Given the description of an element on the screen output the (x, y) to click on. 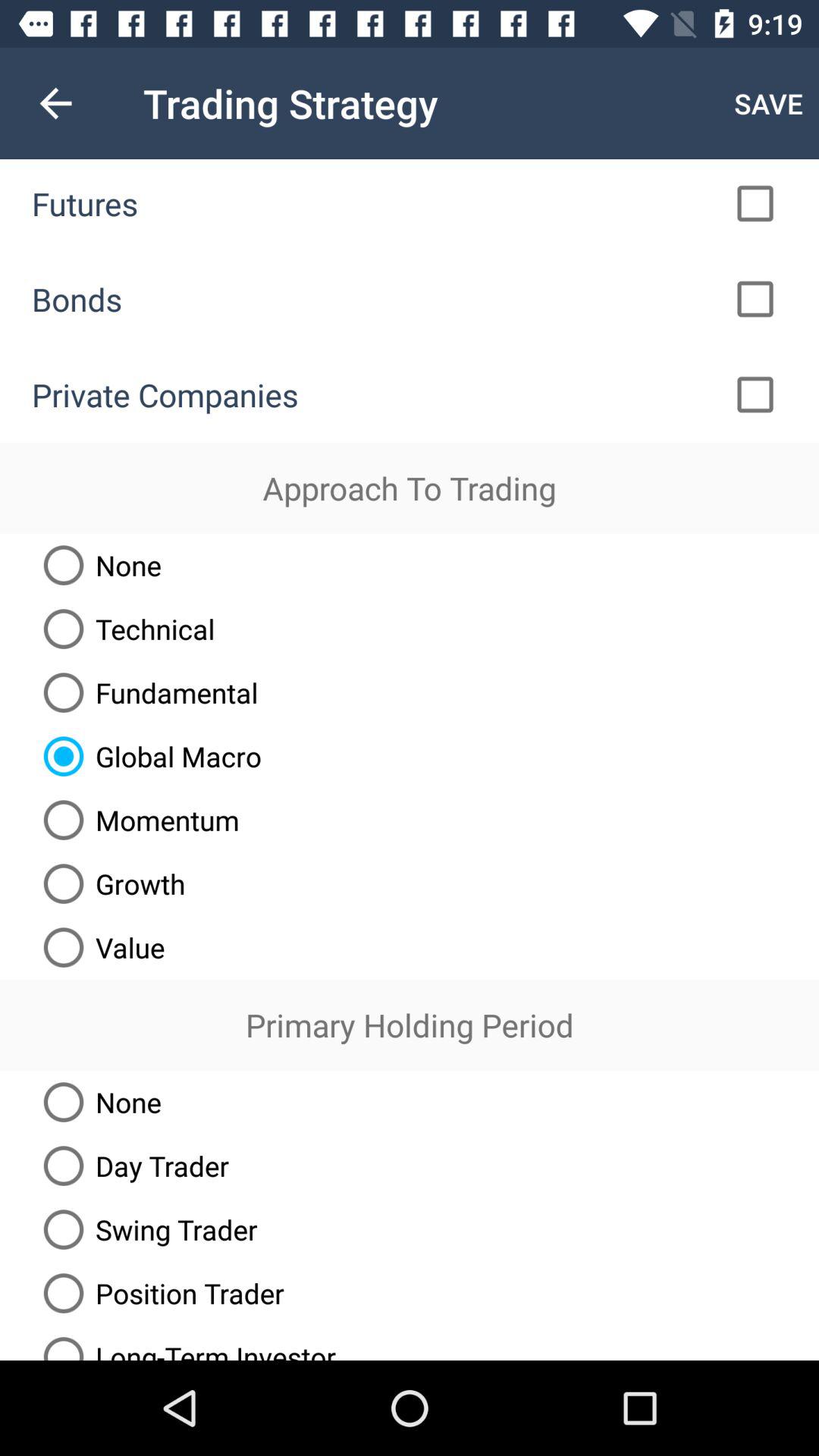
jump to the long-term investor radio button (183, 1342)
